Given the description of an element on the screen output the (x, y) to click on. 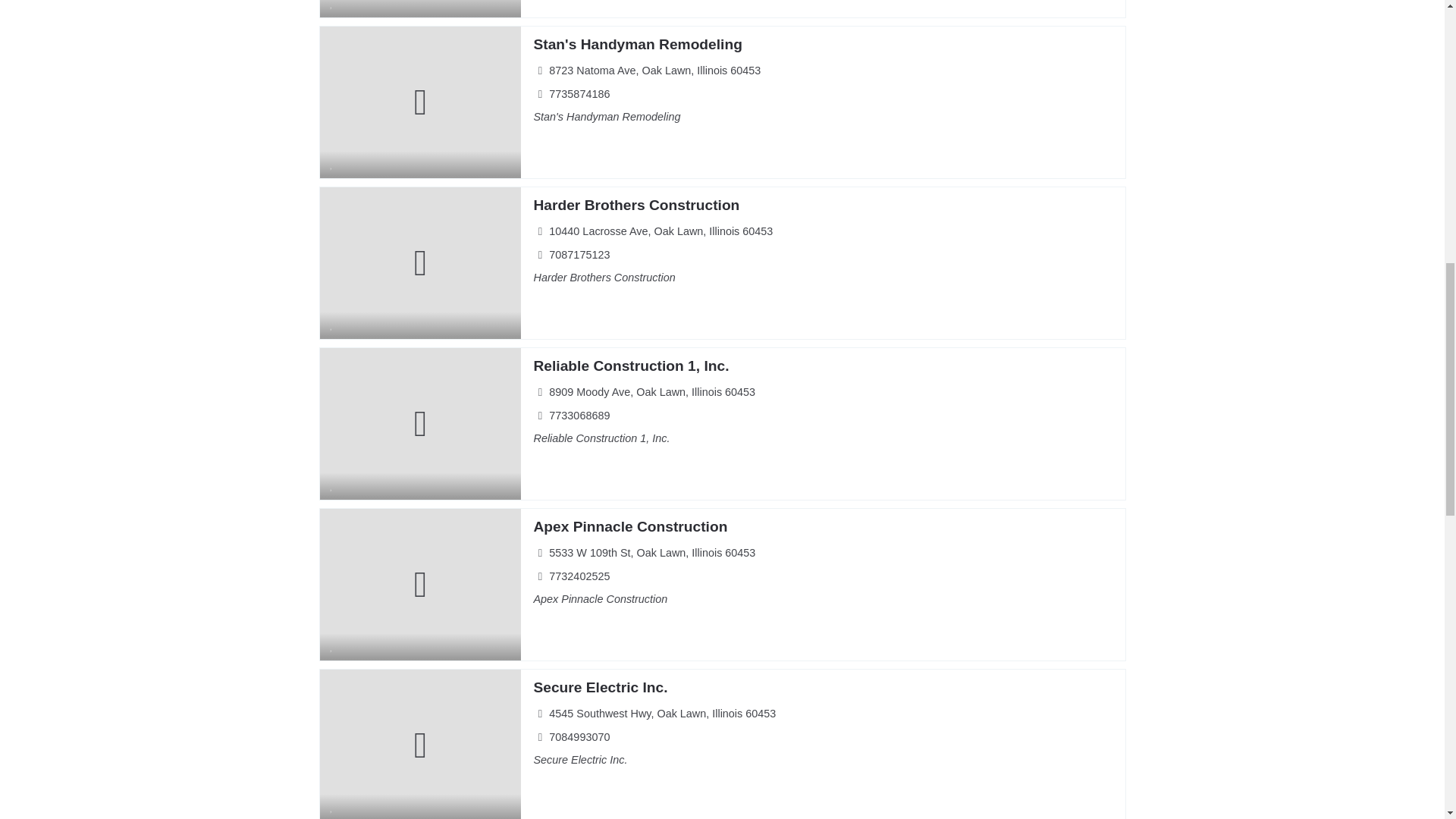
Reliable Construction 1, Inc. (630, 365)
Harder Brothers Construction (635, 204)
Bookmark (331, 8)
Stan's Handyman Remodeling (636, 44)
Reliable Construction 1, Inc. (630, 365)
Apex Pinnacle Construction (629, 526)
Harder Brothers Construction (635, 204)
Stan's Handyman Remodeling (636, 44)
Secure Electric Inc. (599, 687)
